Given the description of an element on the screen output the (x, y) to click on. 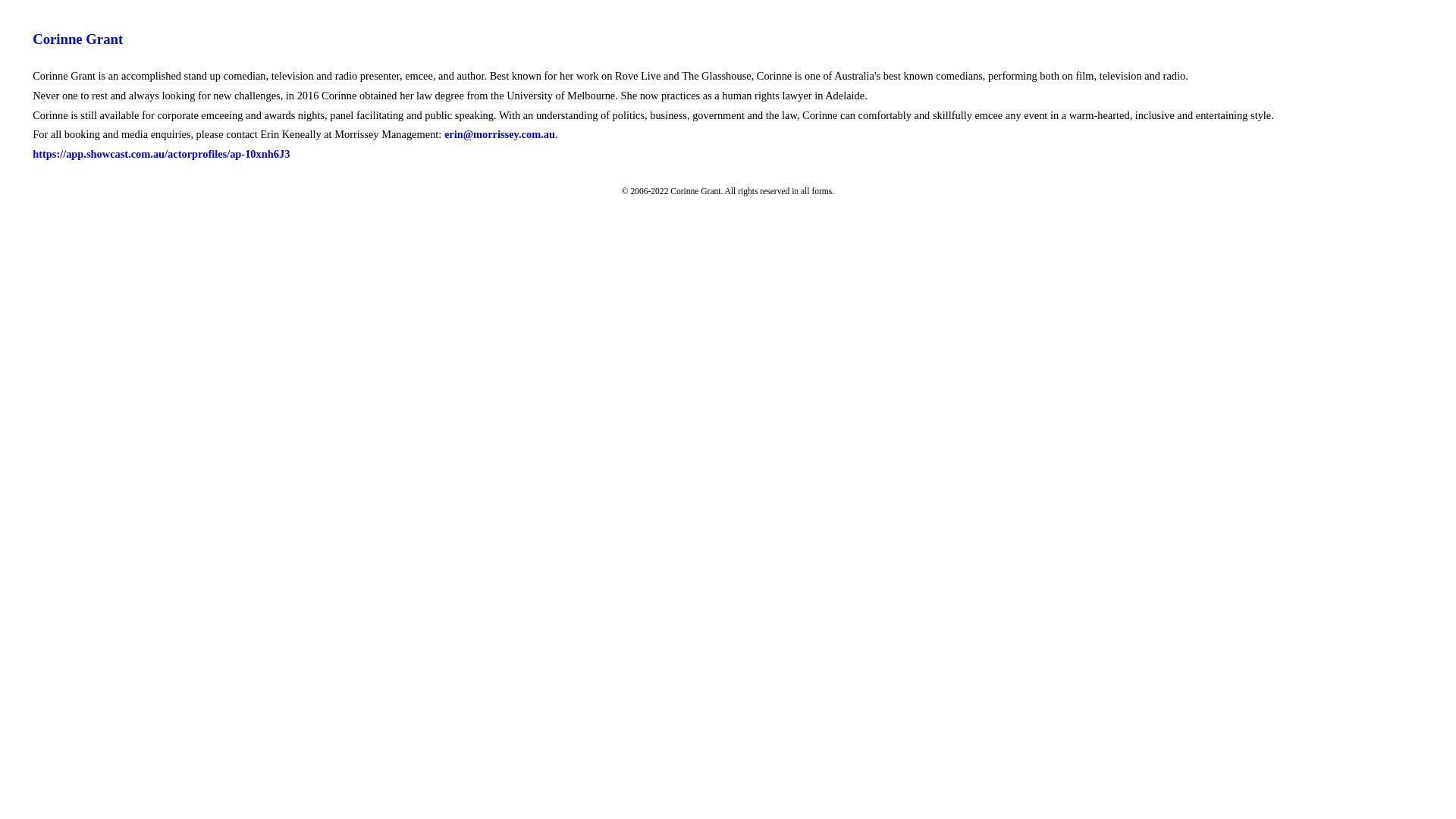
https://app.showcast.com.au/actorprofiles/ap-10xnh6J3 Element type: text (160, 153)
erin@morrissey.com.au Element type: text (499, 134)
Corinne Grant Element type: text (77, 39)
